Given the description of an element on the screen output the (x, y) to click on. 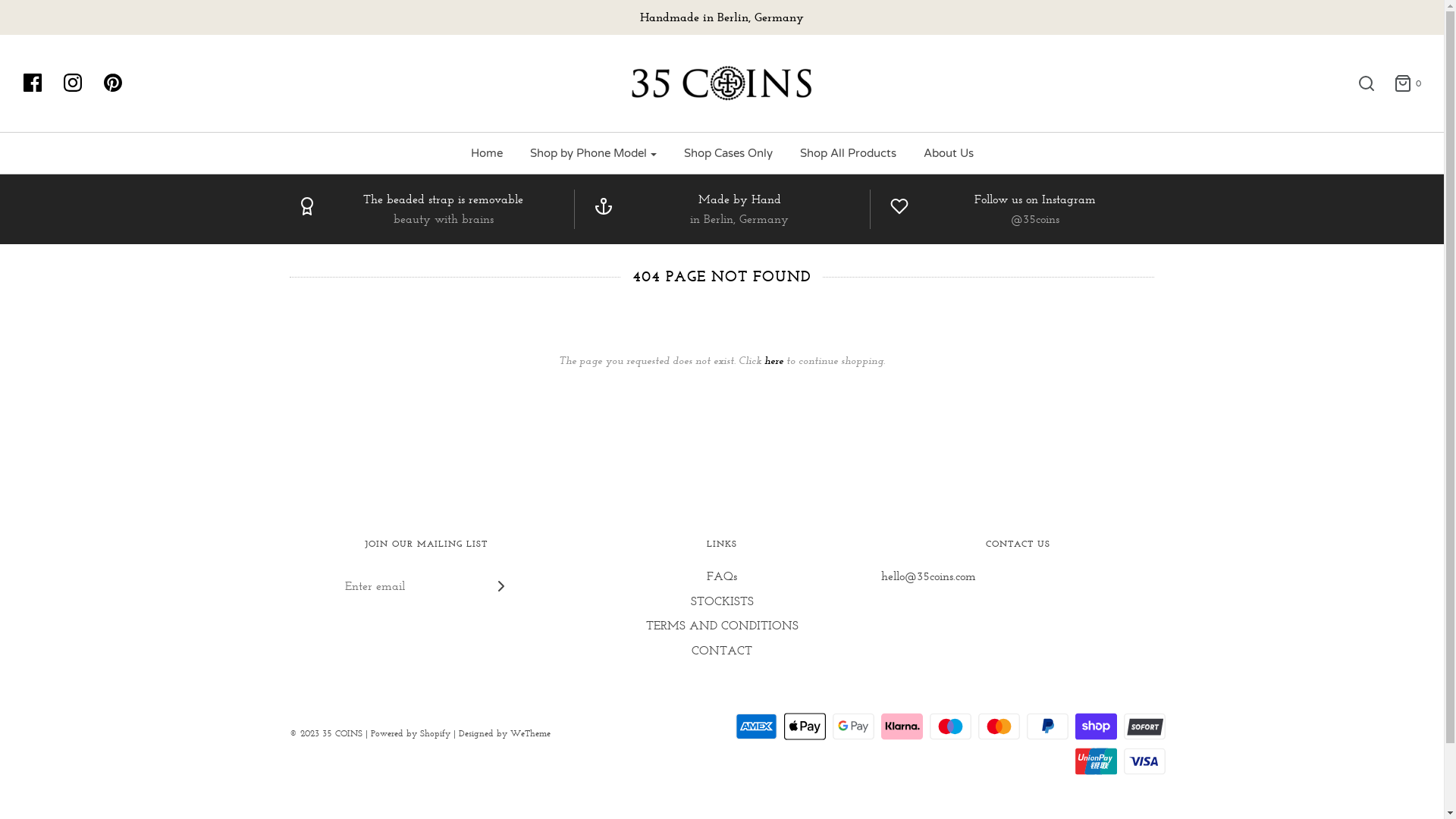
Handmade in Berlin, Germany Element type: text (721, 17)
0 Element type: text (1399, 83)
Instagram icon Element type: text (80, 83)
Shop by Phone Model Element type: text (593, 152)
Pinterest icon Element type: text (120, 83)
here Element type: text (773, 360)
Home Element type: text (486, 152)
Shop All Products Element type: text (847, 152)
FAQs Element type: text (721, 578)
Facebook icon Element type: text (39, 83)
TERMS AND CONDITIONS Element type: text (722, 627)
Shop Cases Only Element type: text (727, 152)
Search Element type: hover (1358, 83)
STOCKISTS Element type: text (721, 603)
CONTACT Element type: text (721, 652)
About Us Element type: text (947, 152)
Designed by WeTheme Element type: text (504, 733)
Powered by Shopify Element type: text (410, 733)
